Given the description of an element on the screen output the (x, y) to click on. 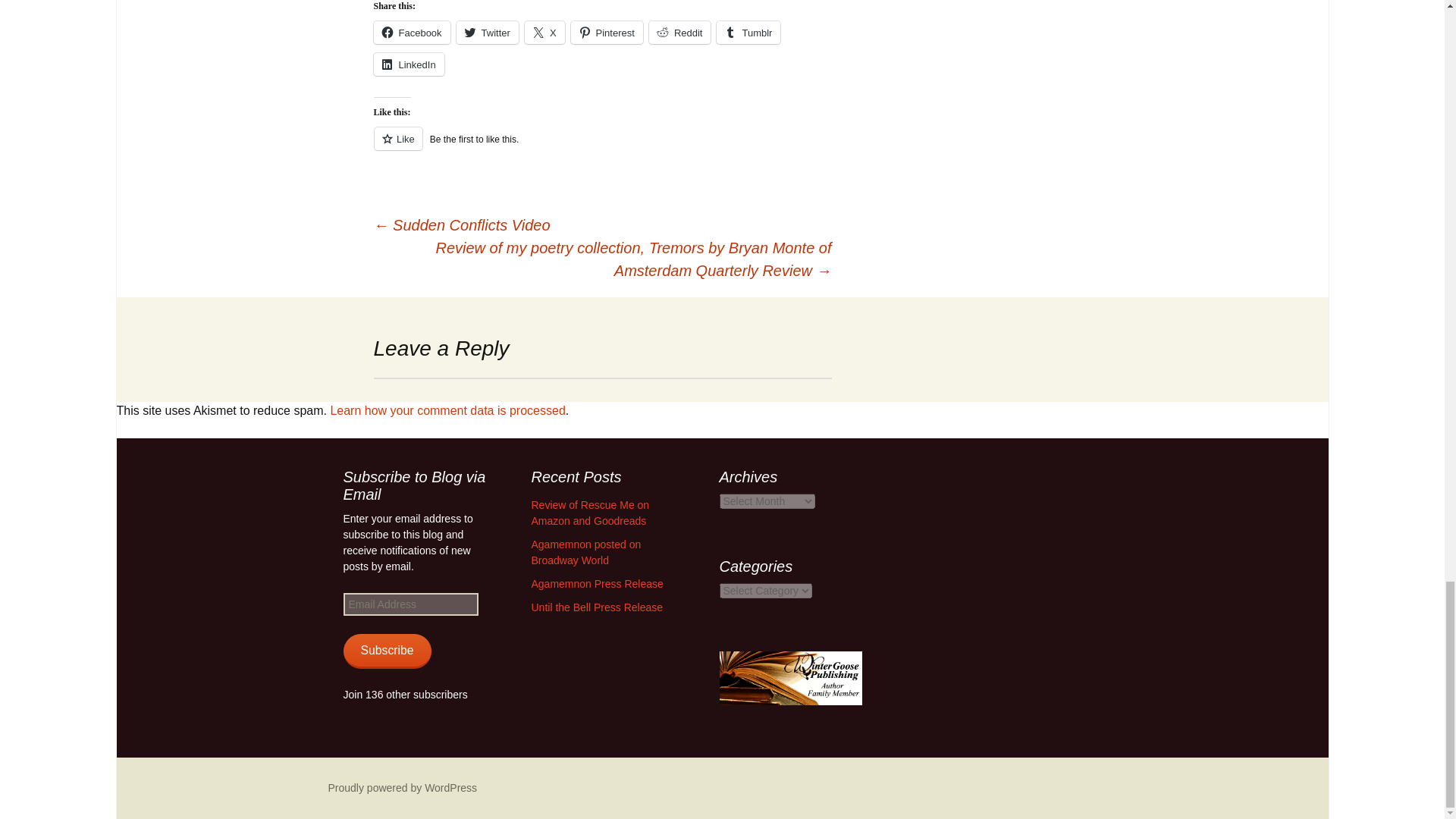
Click to share on Tumblr (748, 32)
Click to share on Twitter (487, 32)
Click to share on Pinterest (606, 32)
Click to share on Reddit (680, 32)
Click to share on Facebook (410, 32)
Click to share on X (544, 32)
Like or Reblog (601, 147)
Click to share on LinkedIn (408, 64)
